Given the description of an element on the screen output the (x, y) to click on. 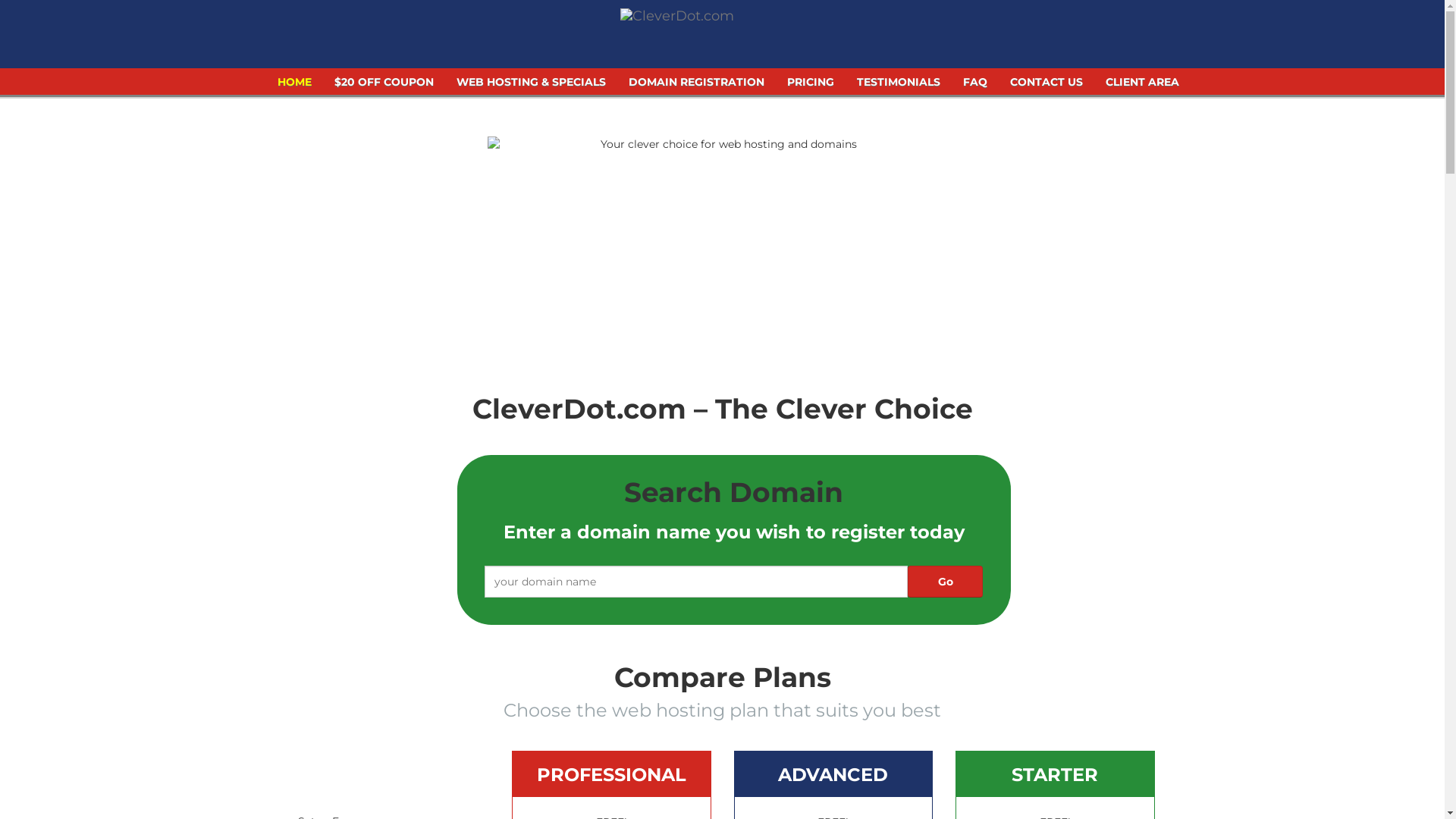
WEB HOSTING & SPECIALS Element type: text (530, 86)
$20 OFF COUPON Element type: text (384, 86)
FAQ Element type: text (973, 86)
TESTIMONIALS Element type: text (897, 86)
CleverDot.com Element type: hover (676, 19)
CleverDot.com Element type: hover (677, 15)
CONTACT US Element type: text (1045, 86)
Go Element type: text (944, 581)
HOME Element type: text (293, 86)
DOMAIN REGISTRATION Element type: text (696, 86)
CLIENT AREA Element type: text (1141, 86)
PRICING Element type: text (809, 86)
